Given the description of an element on the screen output the (x, y) to click on. 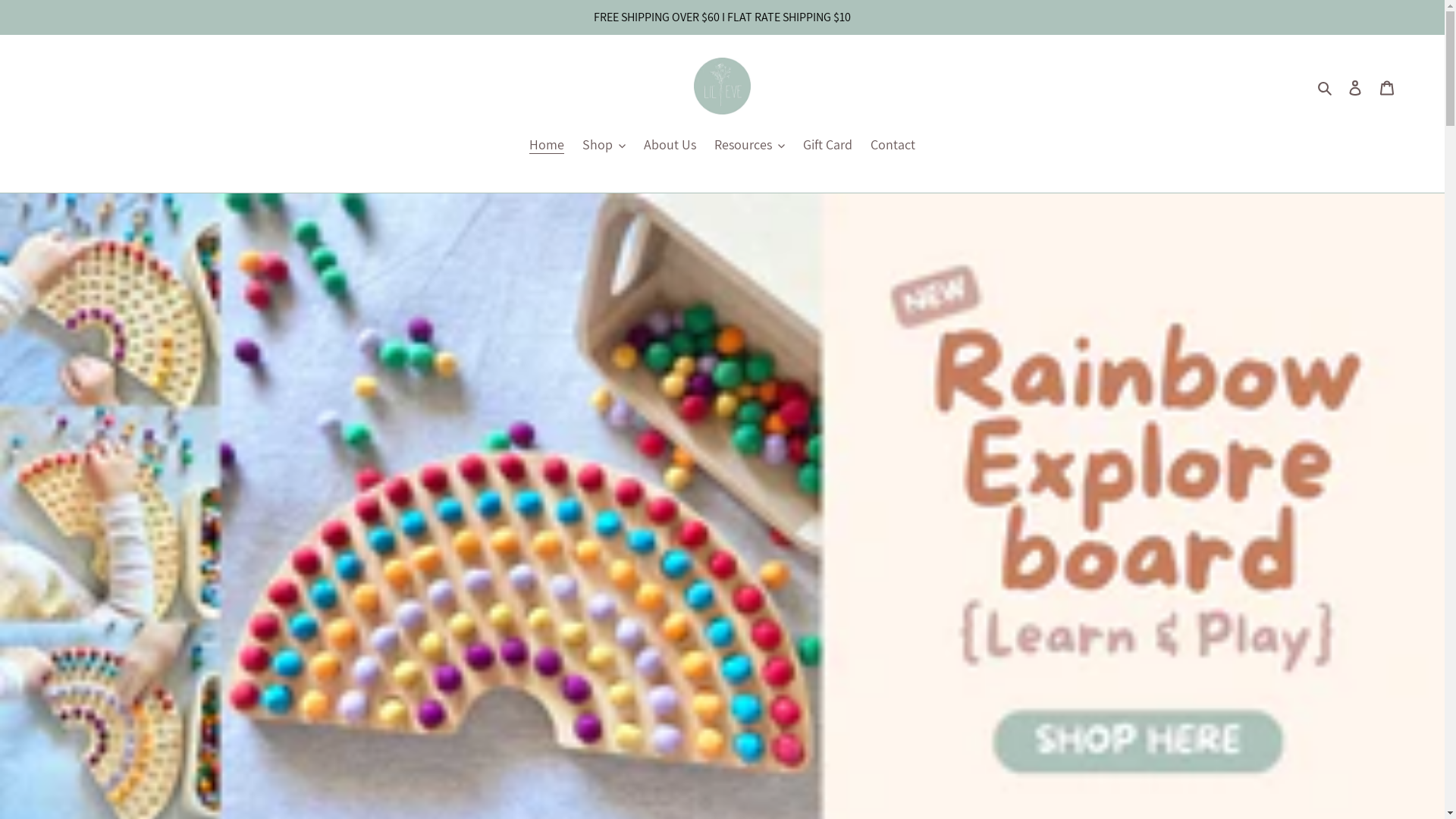
Shop Element type: text (603, 144)
Gift Card Element type: text (827, 144)
Log in Element type: text (1355, 85)
About Us Element type: text (669, 144)
Cart Element type: text (1386, 85)
Resources Element type: text (749, 144)
Home Element type: text (546, 144)
Contact Element type: text (892, 144)
Search Element type: text (1325, 86)
